Given the description of an element on the screen output the (x, y) to click on. 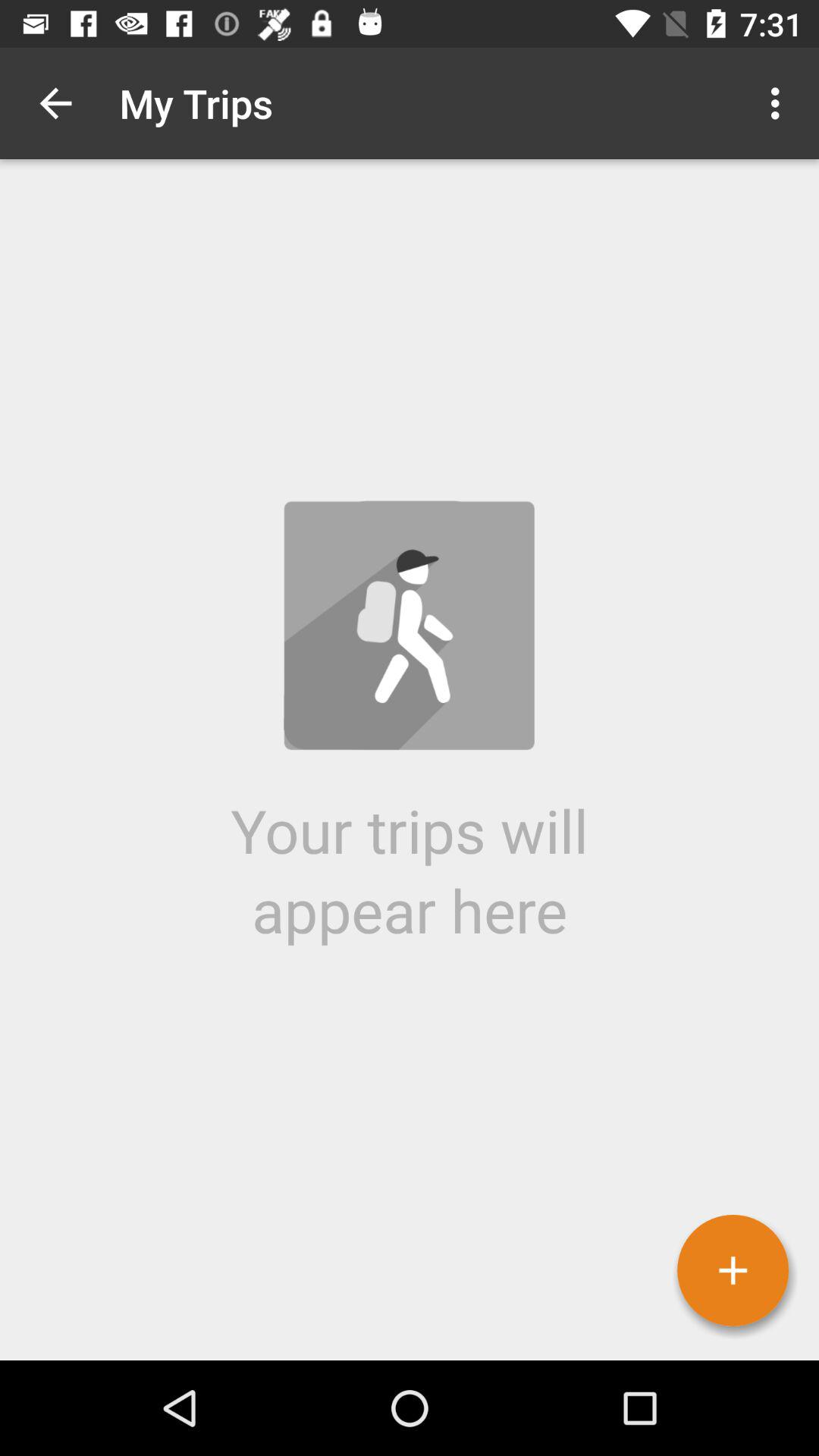
turn on the icon next to the my trips item (55, 103)
